Given the description of an element on the screen output the (x, y) to click on. 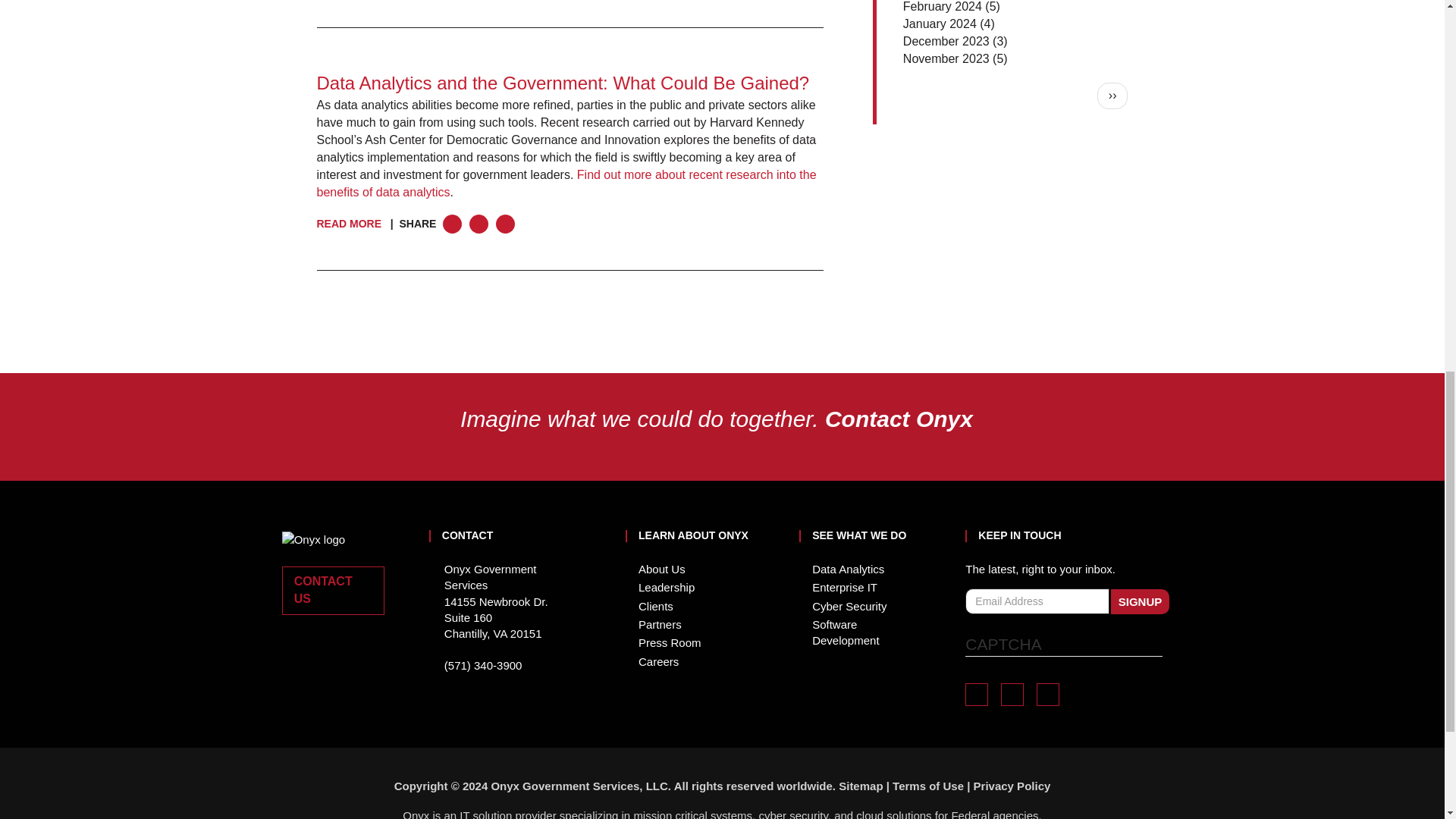
Partners (660, 624)
Go to next page (1112, 95)
Data Analytics and the Government: What Could Be Gained? (563, 82)
Careers (658, 661)
